Given the description of an element on the screen output the (x, y) to click on. 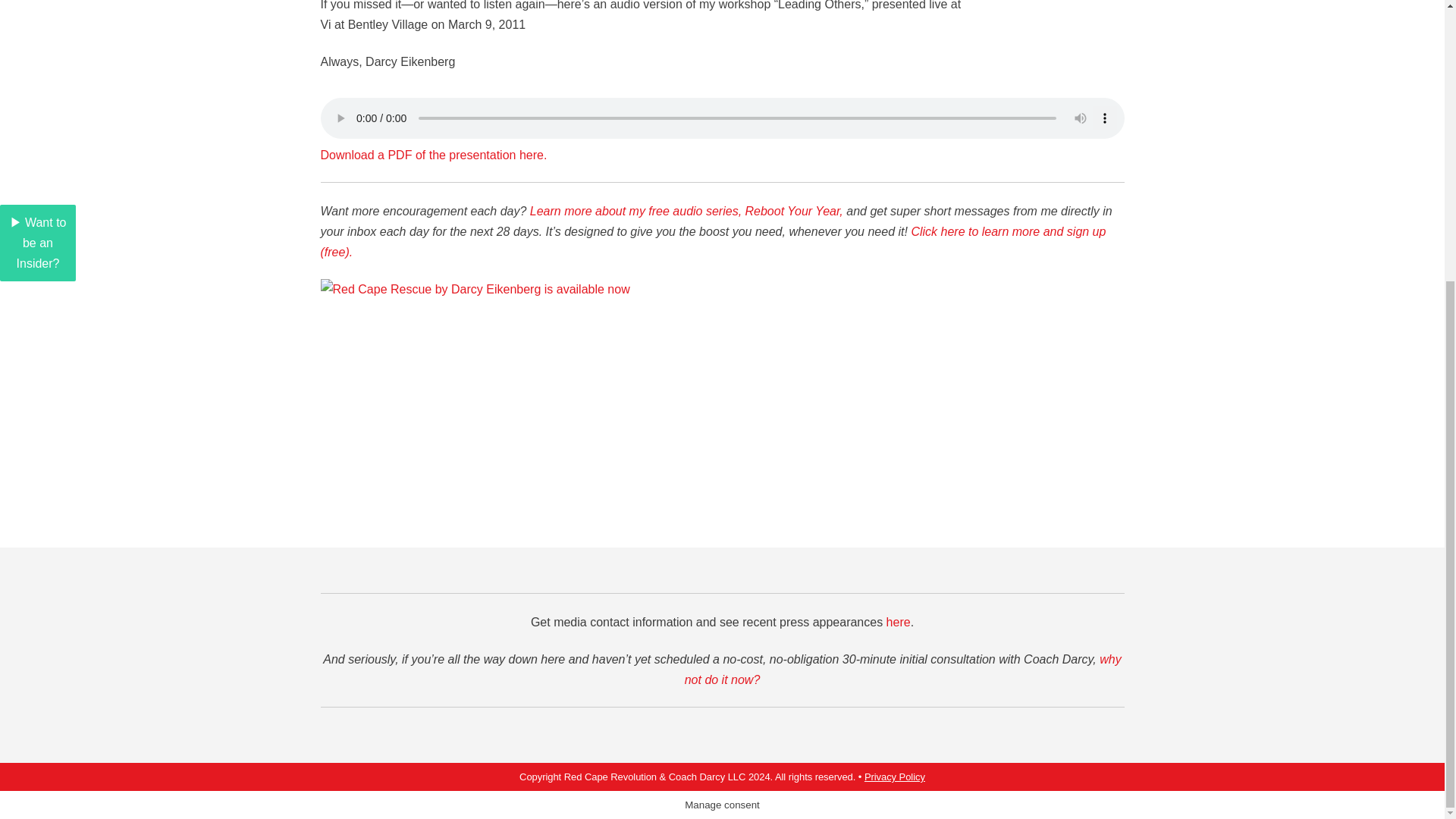
why not do it now? (902, 669)
Privacy Policy (894, 776)
Download a PDF of the presentation here. (433, 154)
Learn more about my free audio series, Reboot Your Year, (686, 210)
here (898, 621)
